Given the description of an element on the screen output the (x, y) to click on. 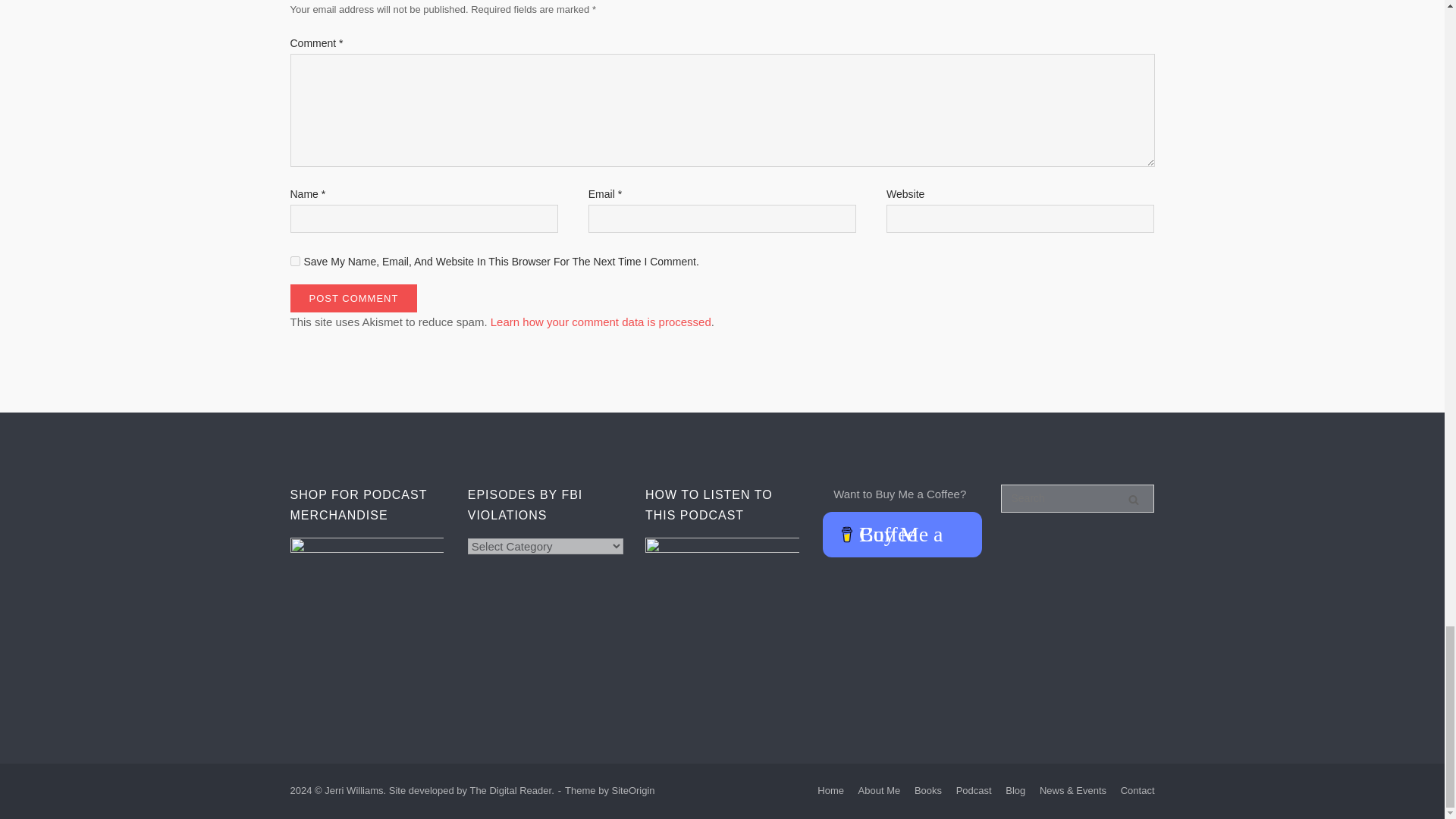
Post Comment (352, 298)
yes (294, 261)
How To Listen To This Podcast (722, 614)
